Given the description of an element on the screen output the (x, y) to click on. 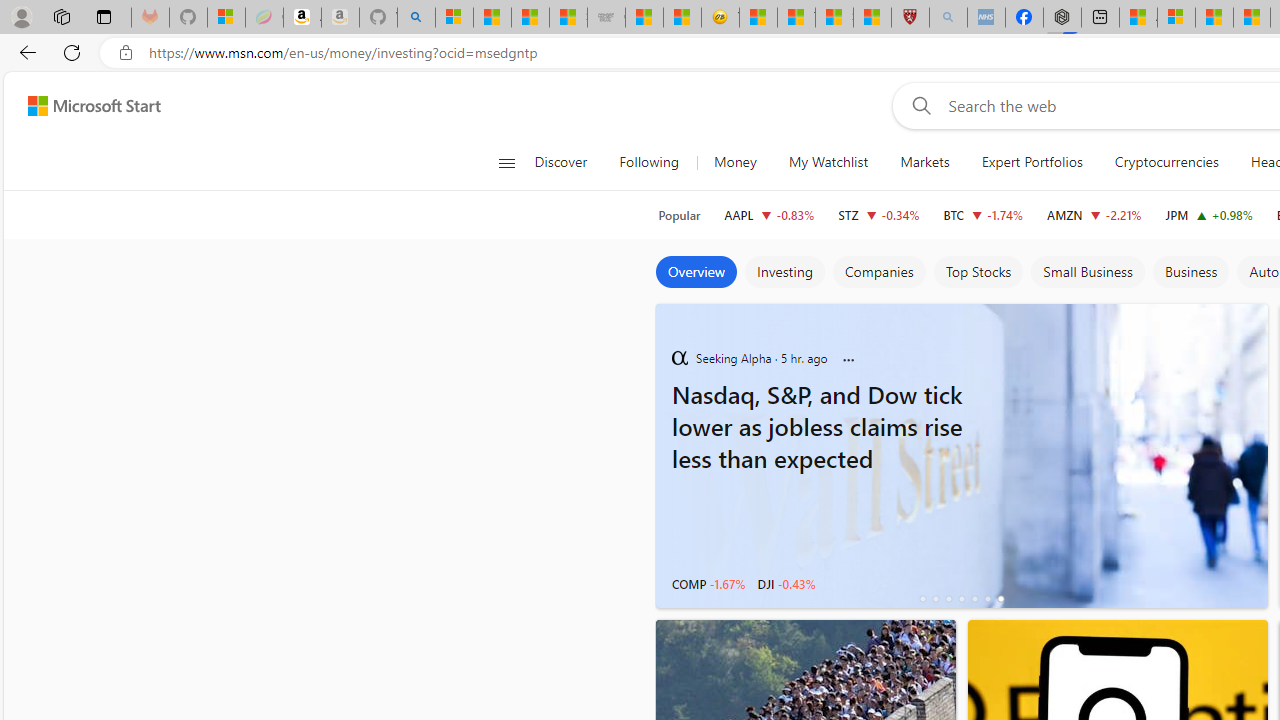
Nordace - Nordace Siena Is Not An Ordinary Backpack (1062, 17)
Stocks - MSN (568, 17)
Skip to footer (82, 105)
Following (648, 162)
Robert H. Shmerling, MD - Harvard Health (910, 17)
Recipes - MSN (757, 17)
AAPL APPLE INC. decrease 224.53 -1.87 -0.83% (768, 214)
Expert Portfolios (1032, 162)
Open navigation menu (506, 162)
list of asthma inhalers uk - Search - Sleeping (948, 17)
Money (734, 162)
